Given the description of an element on the screen output the (x, y) to click on. 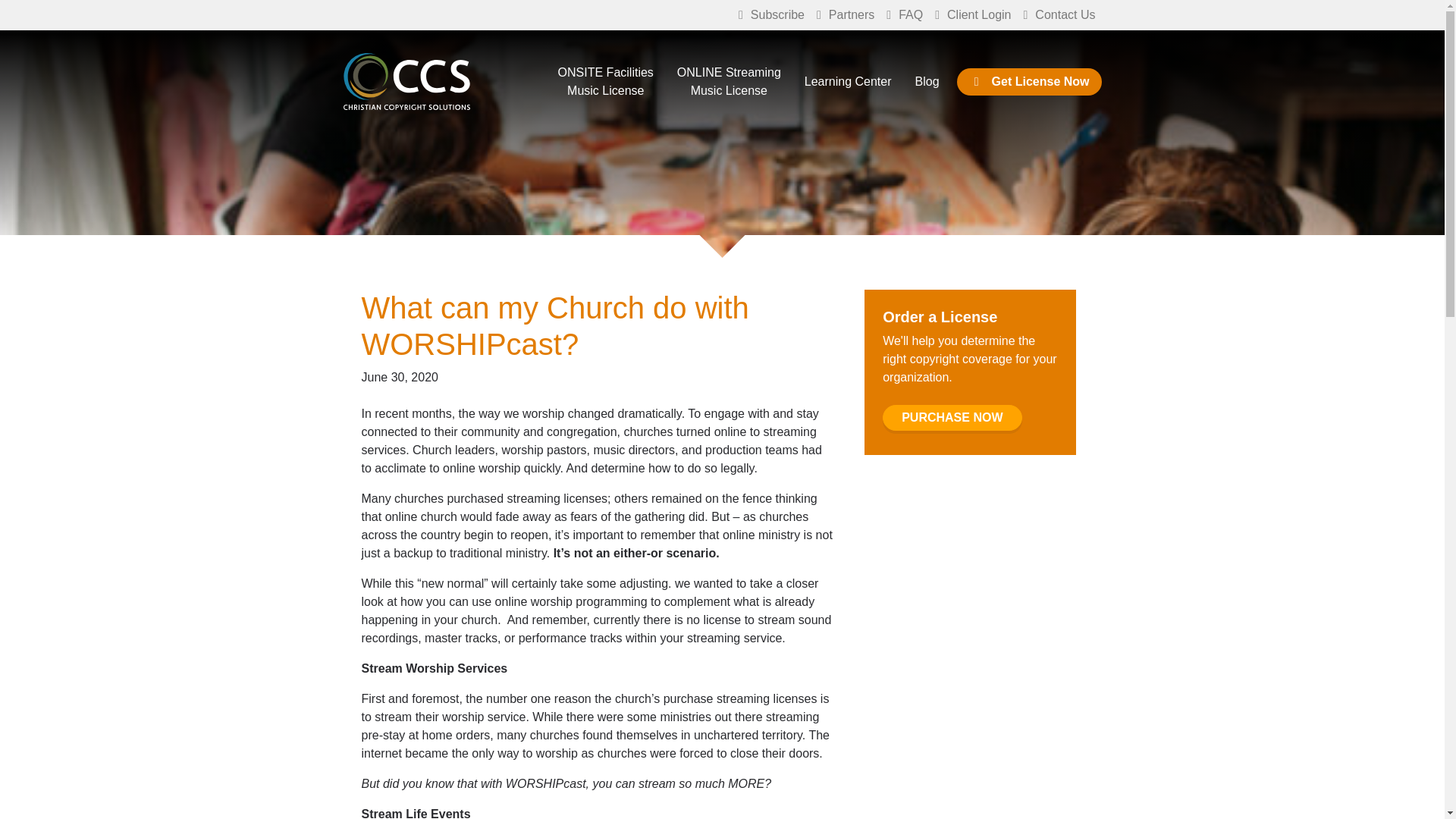
Client Login (972, 15)
Contact Us (1059, 15)
FAQ (904, 15)
Learning Center (847, 81)
Subscribe (771, 15)
PURCHASE NOW (729, 81)
Partners (952, 417)
Get License Now (845, 15)
Blog (1029, 81)
